Given the description of an element on the screen output the (x, y) to click on. 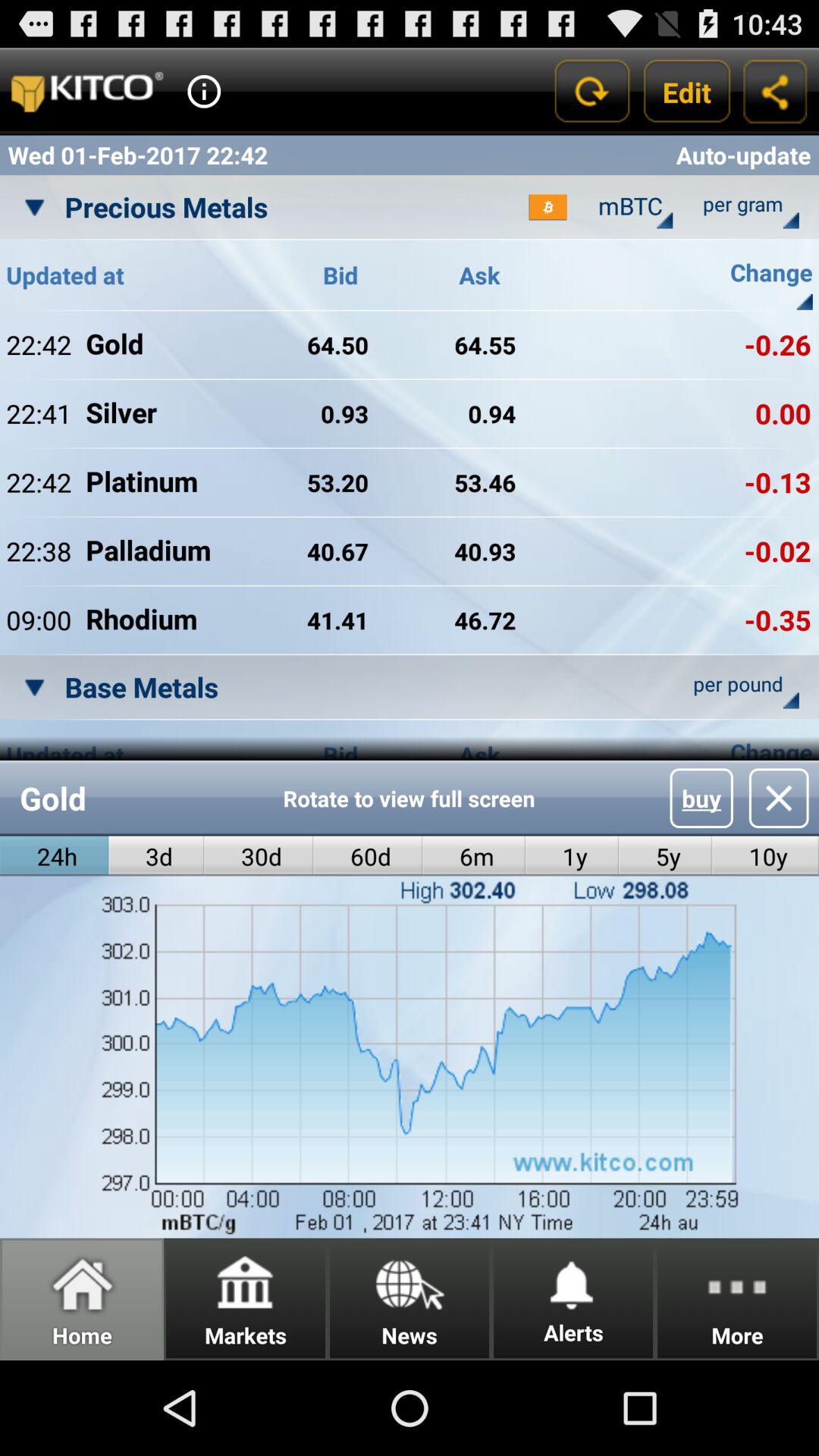
get more information (204, 91)
